Given the description of an element on the screen output the (x, y) to click on. 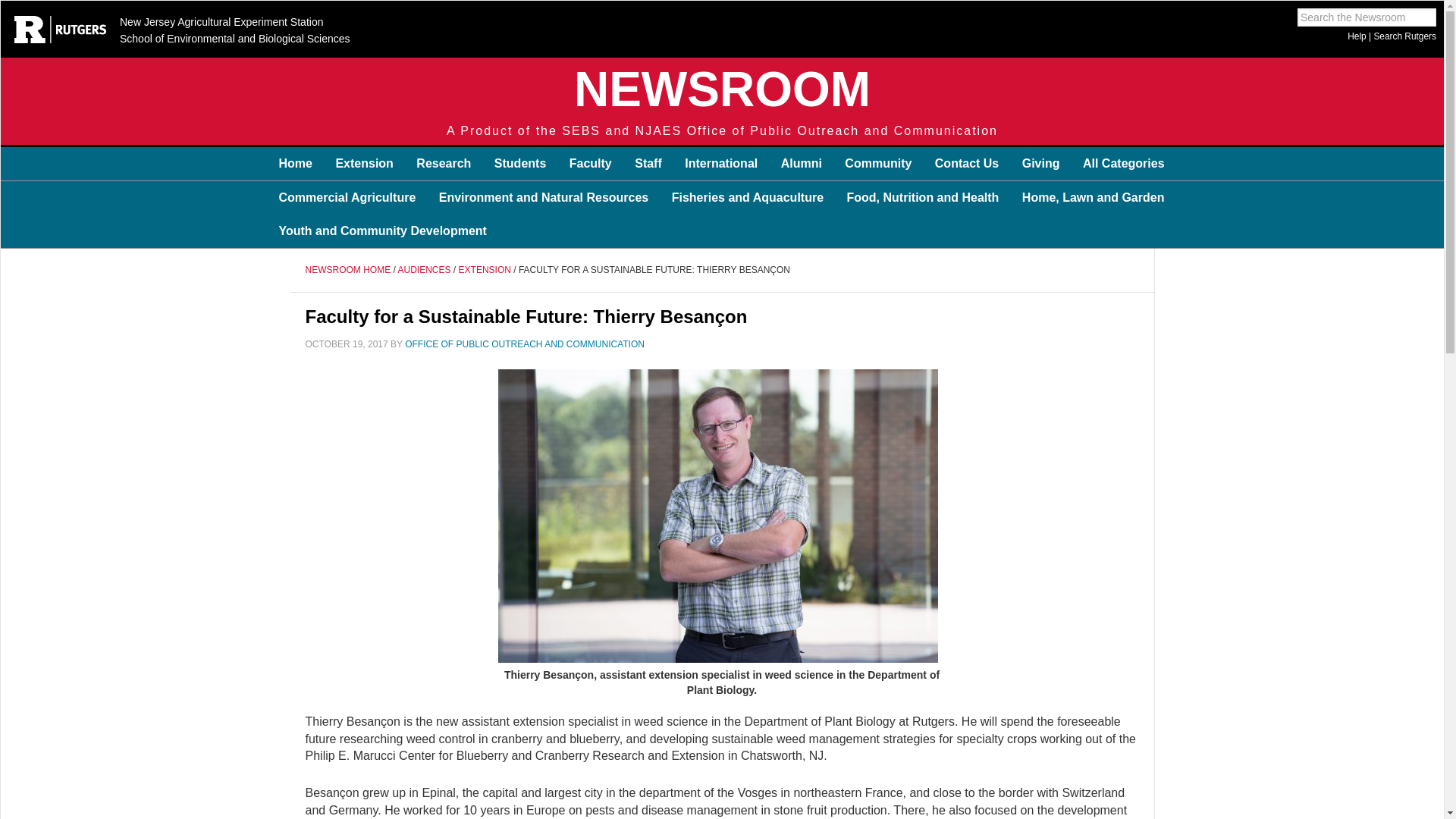
Search Rutgers (1404, 36)
Environment and Natural Resources (544, 197)
Commercial Agriculture (346, 197)
Faculty (590, 163)
EXTENSION (484, 269)
Home, Lawn and Garden (1093, 197)
Contact Us (966, 163)
Research (442, 163)
AUDIENCES (424, 269)
Students (520, 163)
Staff (647, 163)
New Jersey Agricultural Experiment Station (218, 22)
Community (877, 163)
Extension (363, 163)
